Given the description of an element on the screen output the (x, y) to click on. 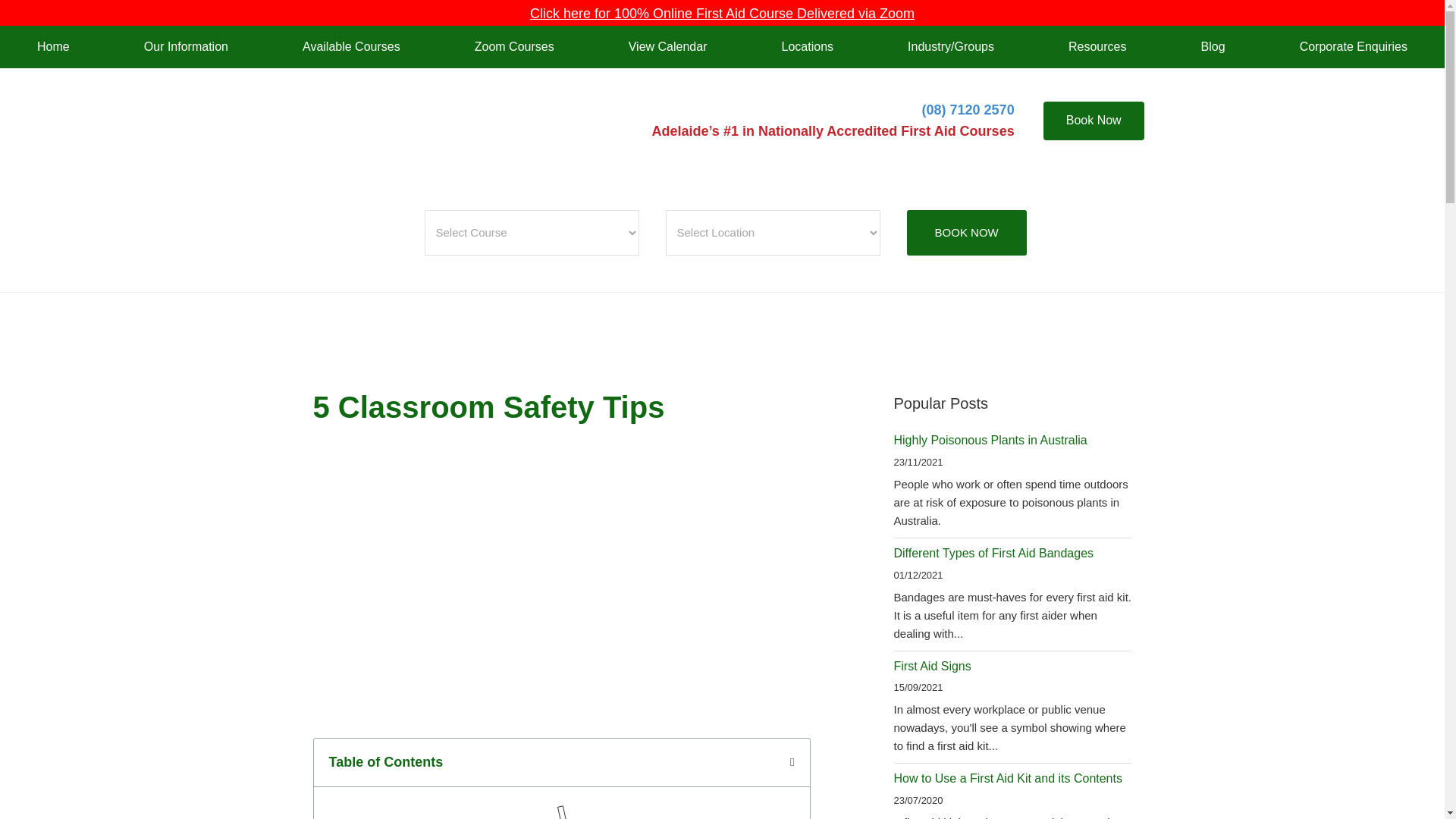
Available Courses (351, 46)
Zoom Courses (514, 46)
View Calendar (667, 46)
Home (53, 46)
Locations (807, 46)
Our Information (185, 46)
